Given the description of an element on the screen output the (x, y) to click on. 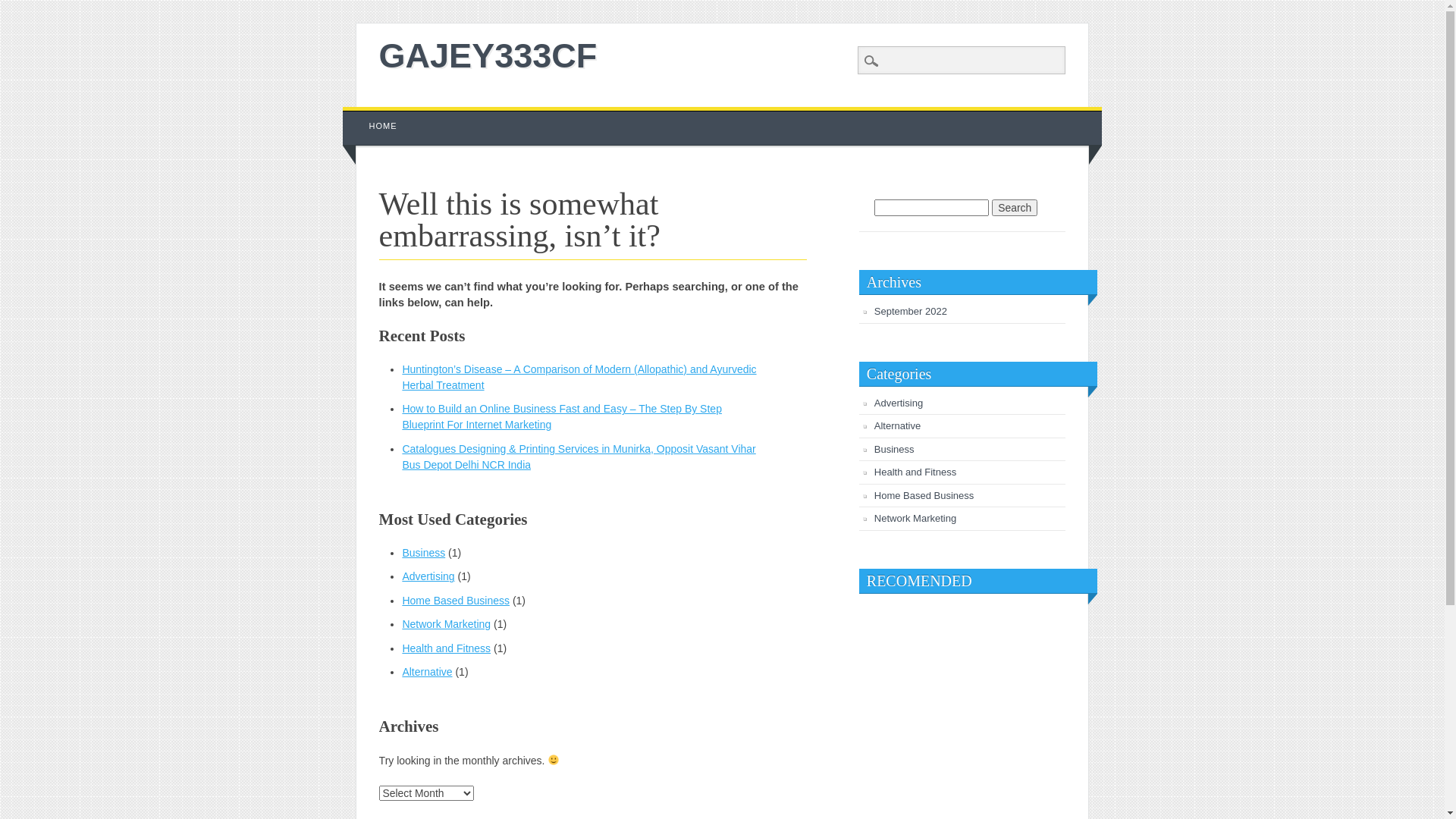
Health and Fitness Element type: text (915, 471)
Network Marketing Element type: text (915, 518)
Network Marketing Element type: text (445, 624)
Home Based Business Element type: text (924, 495)
Home Based Business Element type: text (455, 600)
Advertising Element type: text (427, 576)
Advertising Element type: text (898, 402)
Business Element type: text (423, 552)
Skip to content Element type: text (377, 114)
Search Element type: text (22, 8)
HOME Element type: text (383, 125)
Health and Fitness Element type: text (445, 648)
Alternative Element type: text (426, 671)
Alternative Element type: text (897, 425)
September 2022 Element type: text (910, 310)
Business Element type: text (894, 449)
GAJEY333CF Element type: text (488, 55)
Search Element type: text (1014, 207)
